Given the description of an element on the screen output the (x, y) to click on. 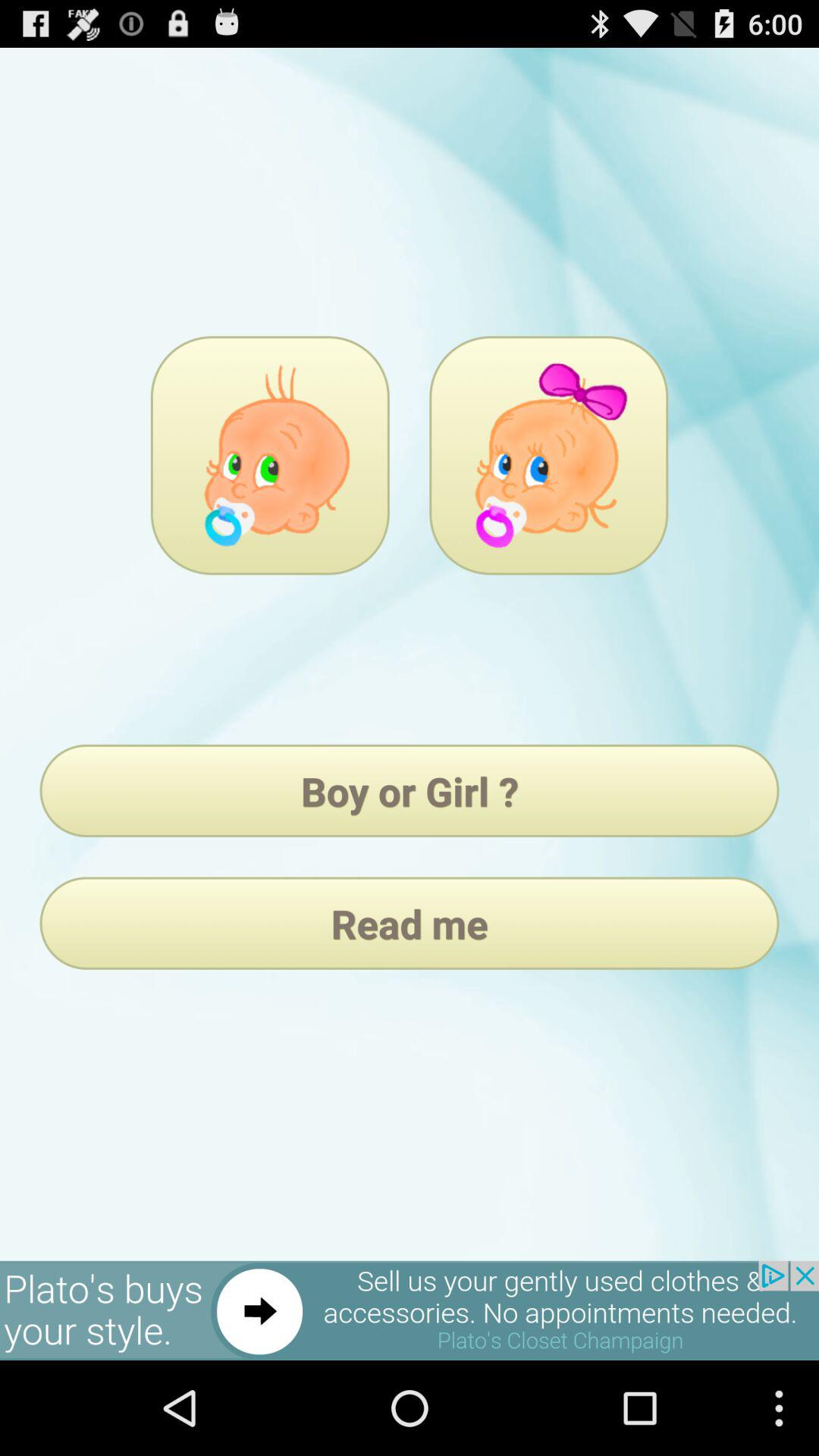
pick girl as gender (548, 455)
